Given the description of an element on the screen output the (x, y) to click on. 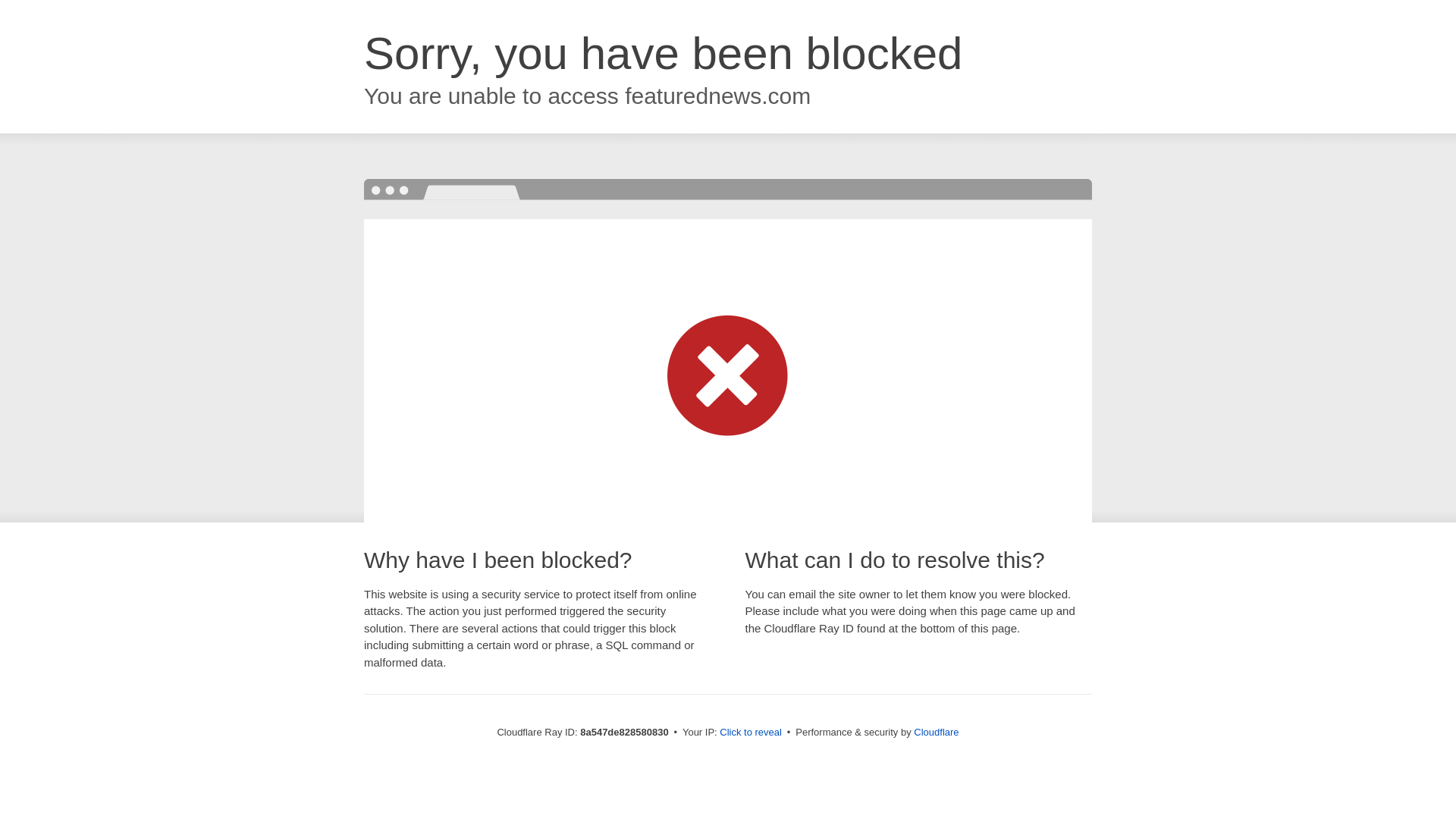
Click to reveal (750, 732)
Cloudflare (936, 731)
